Given the description of an element on the screen output the (x, y) to click on. 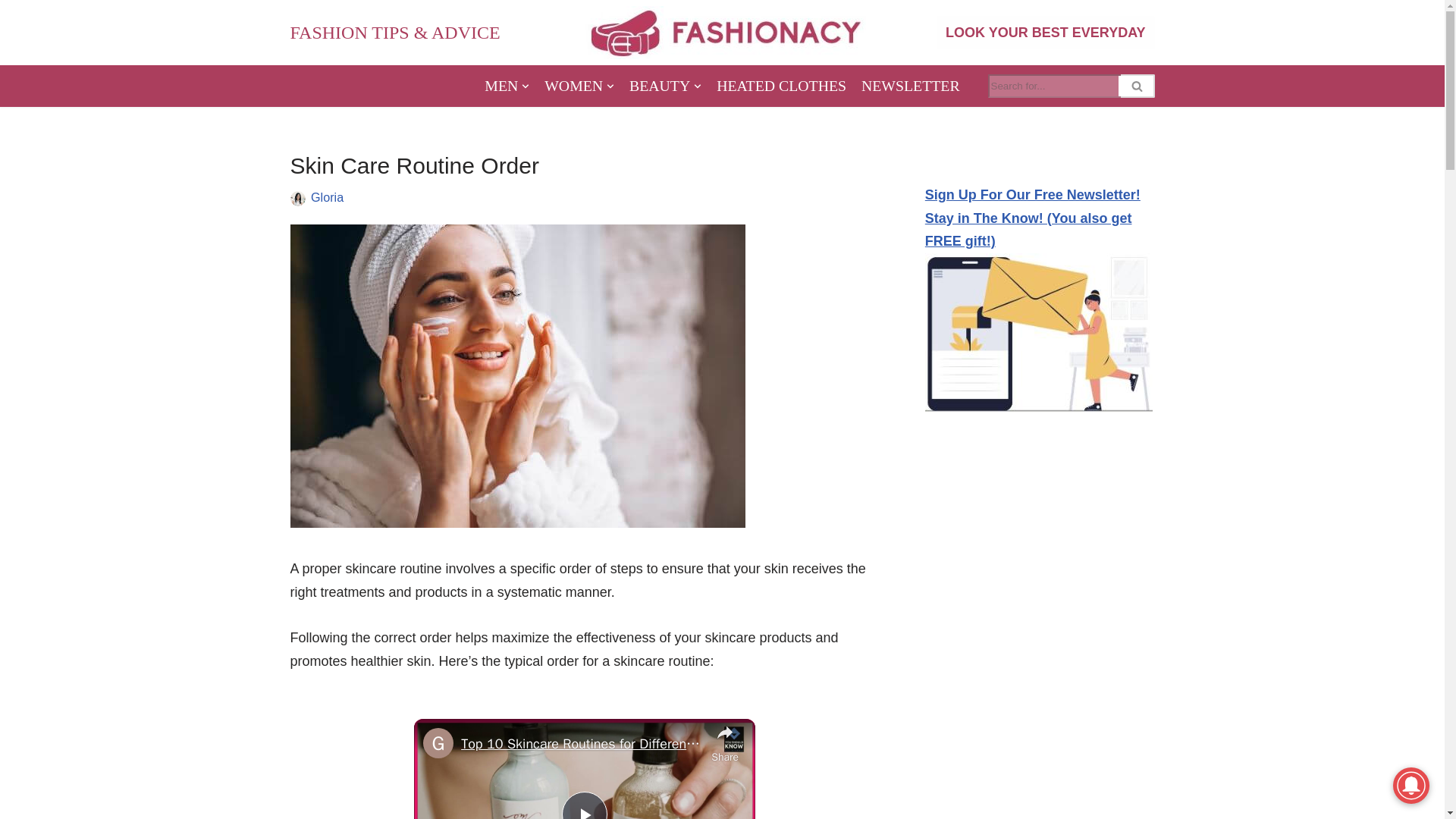
Skip to content (11, 31)
MEN (506, 86)
Play Video (584, 805)
Posts by Gloria (327, 196)
BEAUTY (664, 86)
LOOK YOUR BEST EVERYDAY (1045, 32)
WOMEN (579, 86)
